Given the description of an element on the screen output the (x, y) to click on. 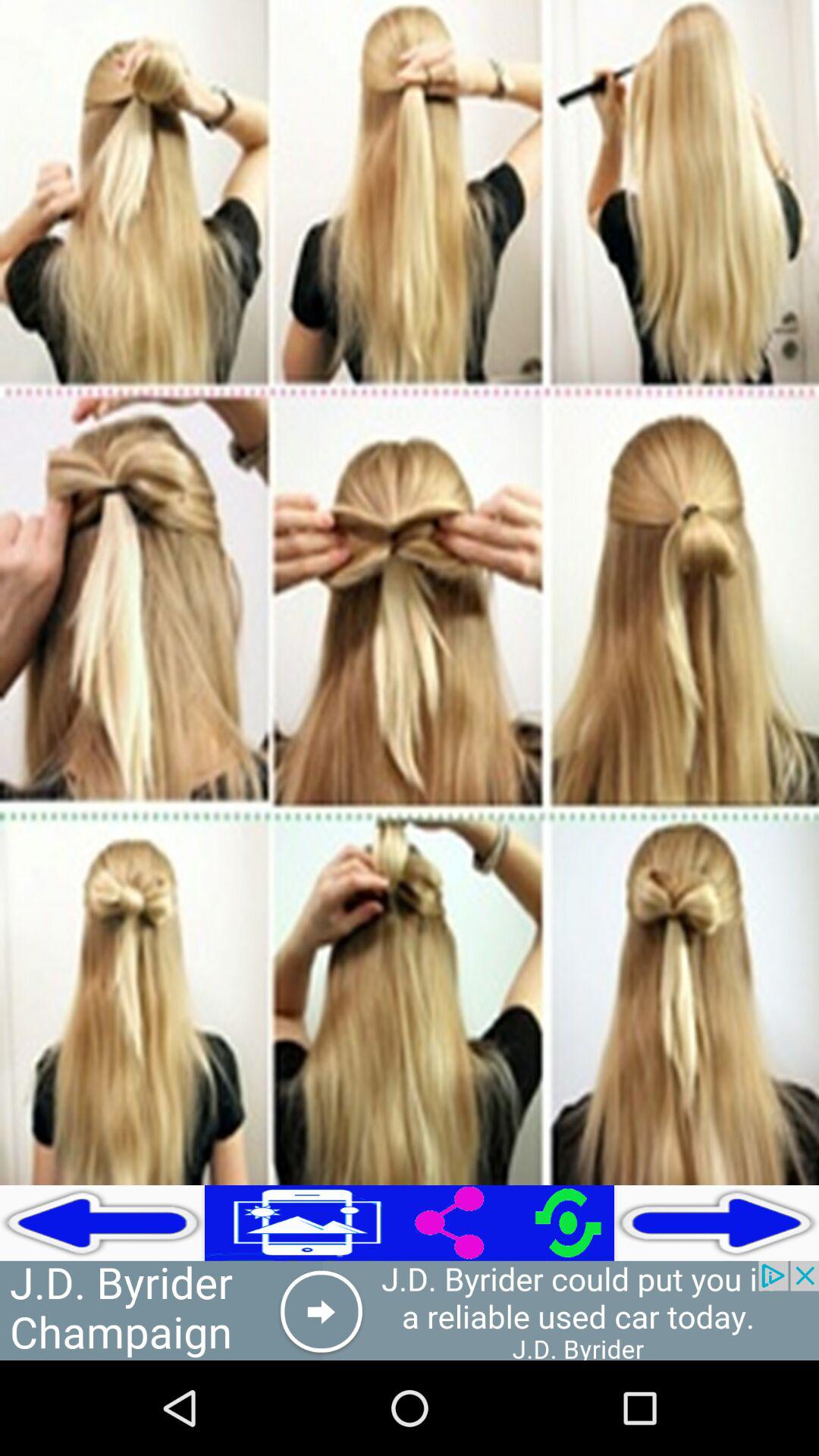
advertising bar (409, 1310)
